Given the description of an element on the screen output the (x, y) to click on. 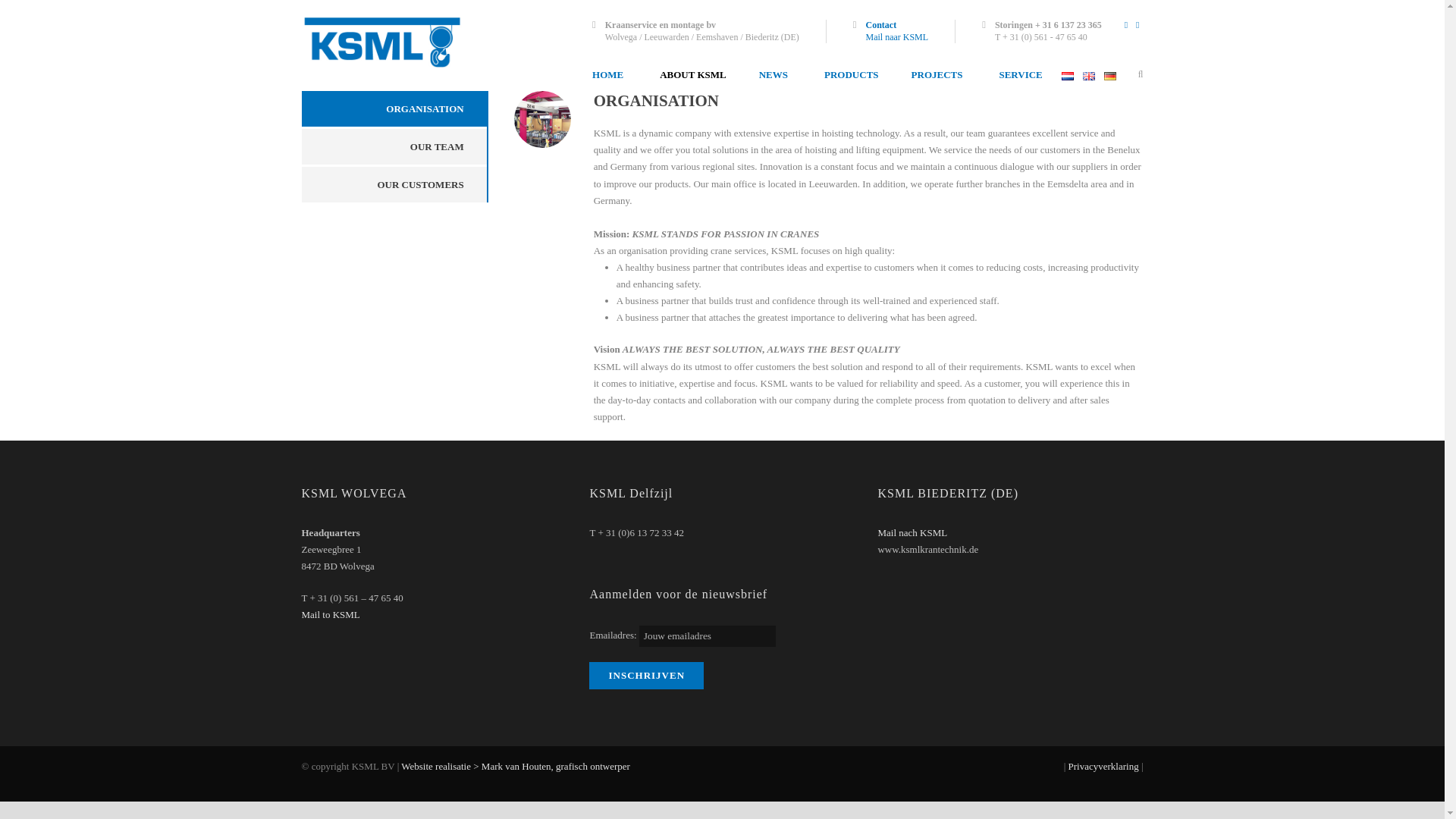
NEWS (773, 74)
HOME (617, 74)
Mark van Houten, grafisch ontwerper (565, 775)
Mail naar KSML (896, 36)
Contact (880, 24)
Inschrijven (646, 675)
ABOUT KSML (691, 74)
PRODUCTS (849, 74)
